Given the description of an element on the screen output the (x, y) to click on. 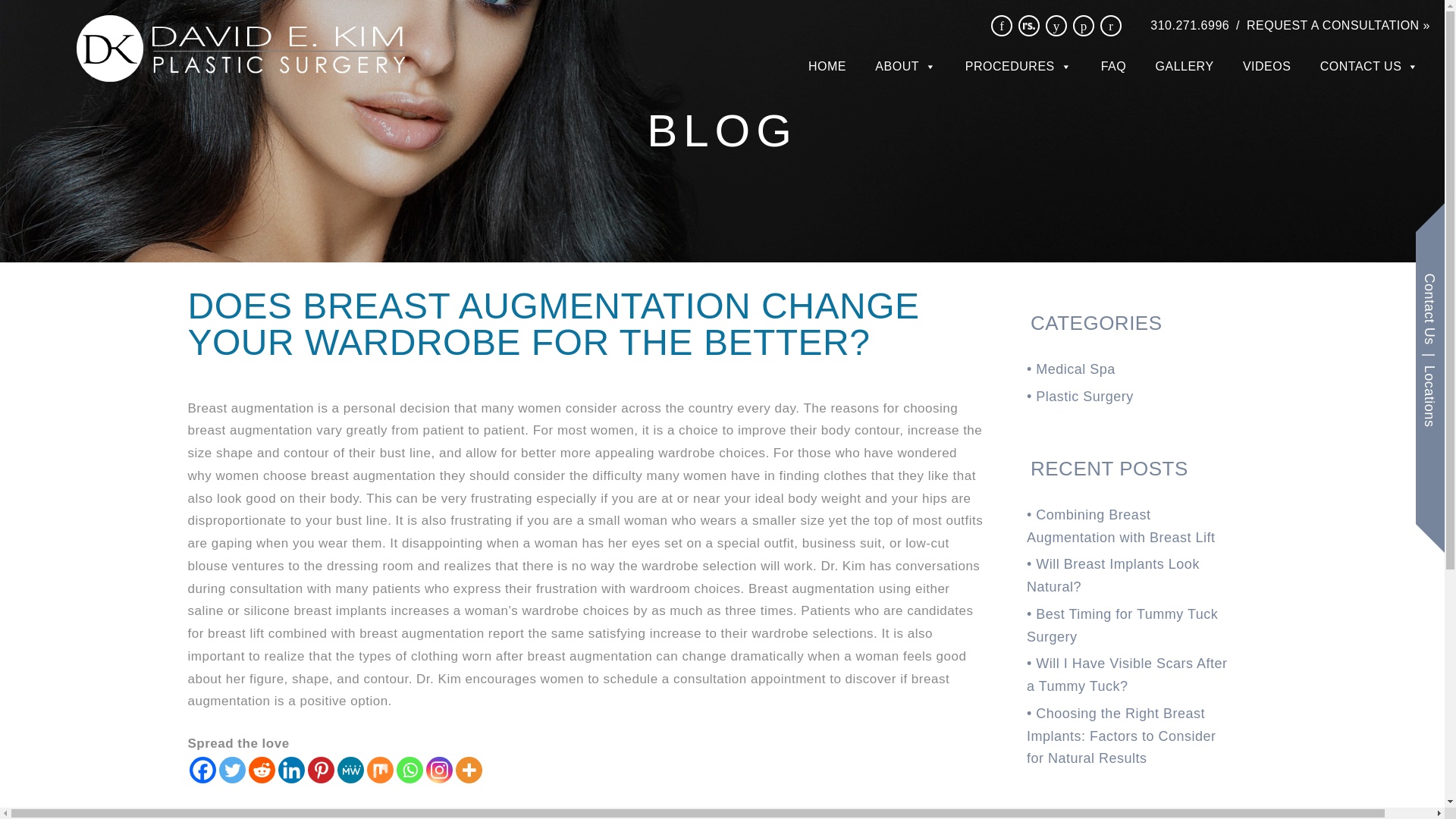
MeWe (349, 769)
Pinterest (320, 769)
ABOUT (905, 63)
Reddit (261, 769)
310.271.6996 (1189, 25)
Twitter (231, 769)
FAQ (1113, 63)
Whatsapp (409, 769)
More (467, 769)
Facebook (202, 769)
